Given the description of an element on the screen output the (x, y) to click on. 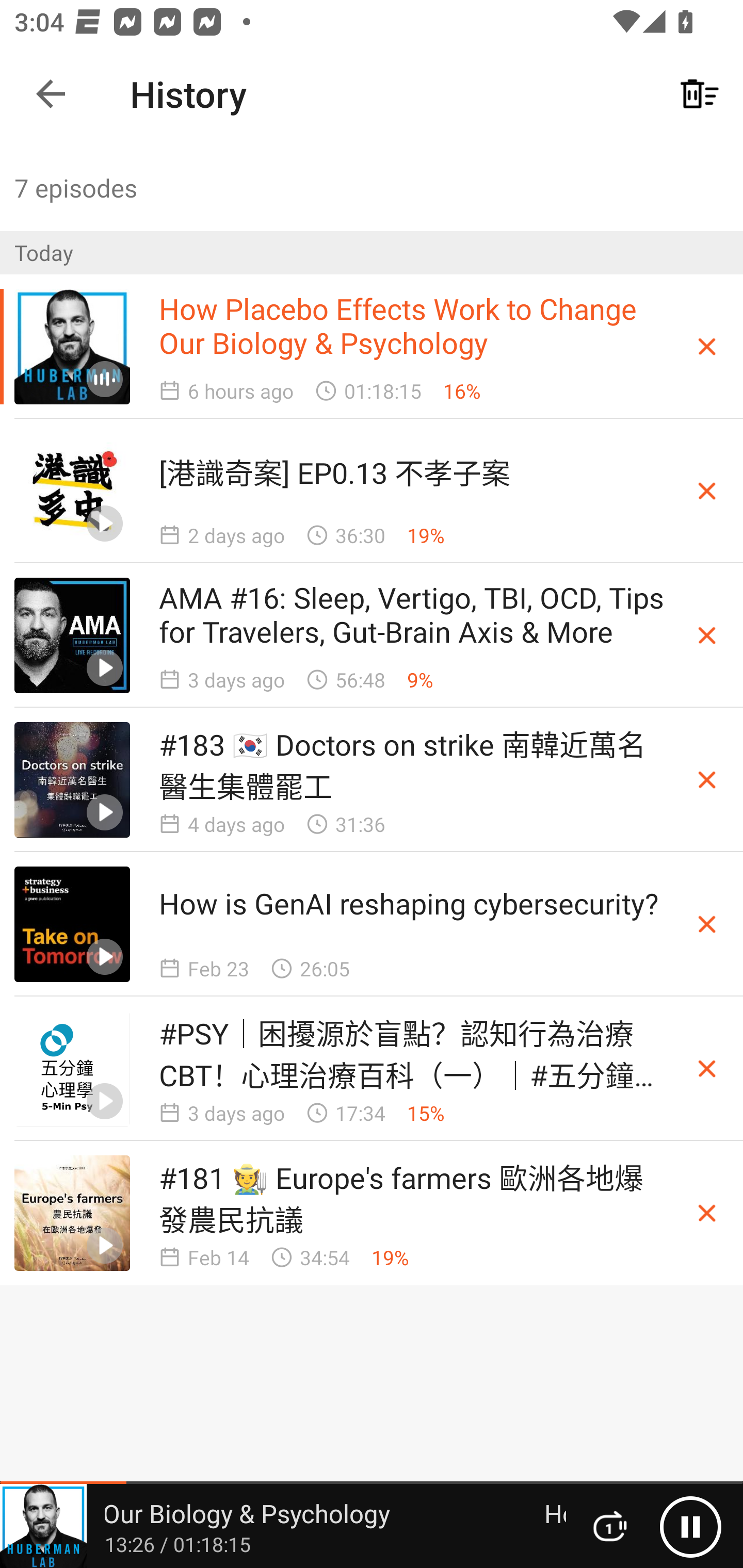
Navigate up (50, 93)
Clear (699, 93)
Delete (706, 346)
Delete (706, 490)
Delete (706, 634)
Delete (706, 779)
Delete (706, 924)
Delete (706, 1068)
Delete (706, 1213)
Pause (690, 1526)
